Given the description of an element on the screen output the (x, y) to click on. 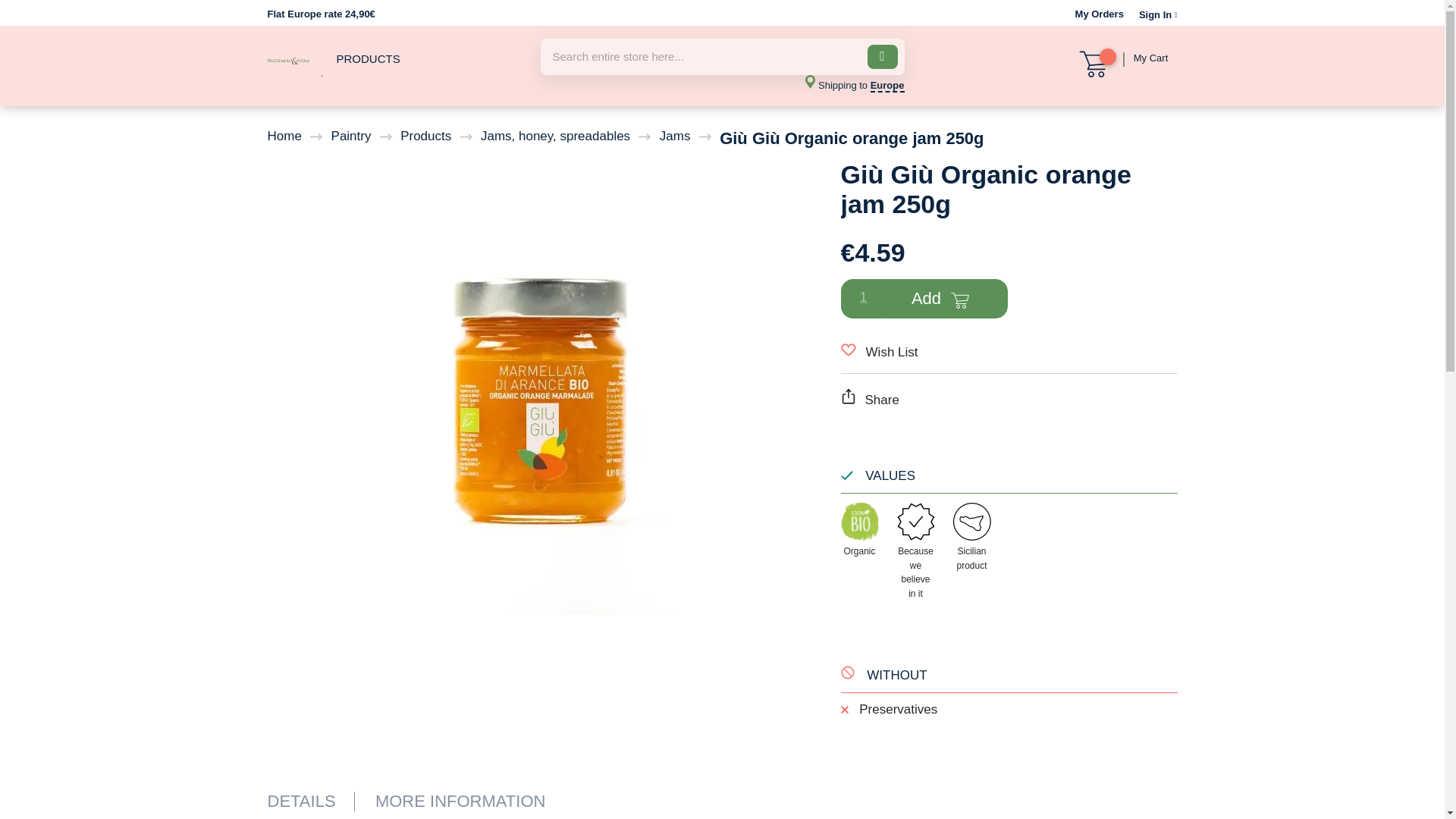
PRODUCTS (367, 59)
Add (946, 298)
Qty (863, 297)
Paintry (351, 135)
1 (863, 297)
Go to Home Page (283, 135)
Products (425, 135)
Search (882, 56)
Jams (674, 135)
Jams, honey, spreadables (555, 135)
My Orders (1099, 13)
